Given the description of an element on the screen output the (x, y) to click on. 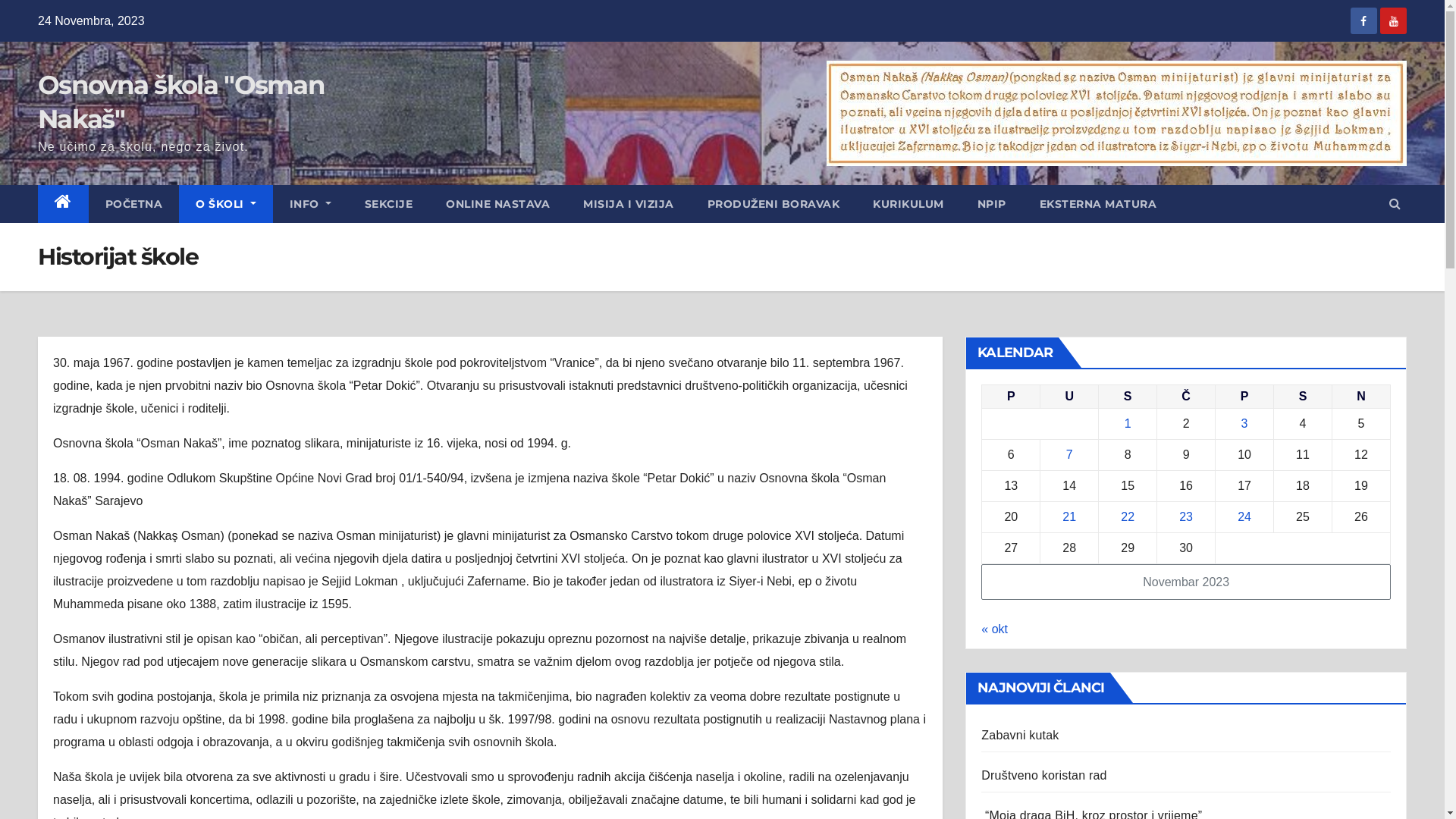
Zabavni kutak Element type: text (1019, 734)
MISIJA I VIZIJA Element type: text (628, 203)
NPIP Element type: text (991, 203)
1 Element type: text (1127, 423)
7 Element type: text (1069, 454)
23 Element type: text (1185, 516)
INFO Element type: text (310, 203)
KURIKULUM Element type: text (908, 203)
EKSTERNA MATURA Element type: text (1097, 203)
22 Element type: text (1127, 516)
SEKCIJE Element type: text (388, 203)
3 Element type: text (1244, 423)
ONLINE NASTAVA Element type: text (497, 203)
21 Element type: text (1069, 516)
